Given the description of an element on the screen output the (x, y) to click on. 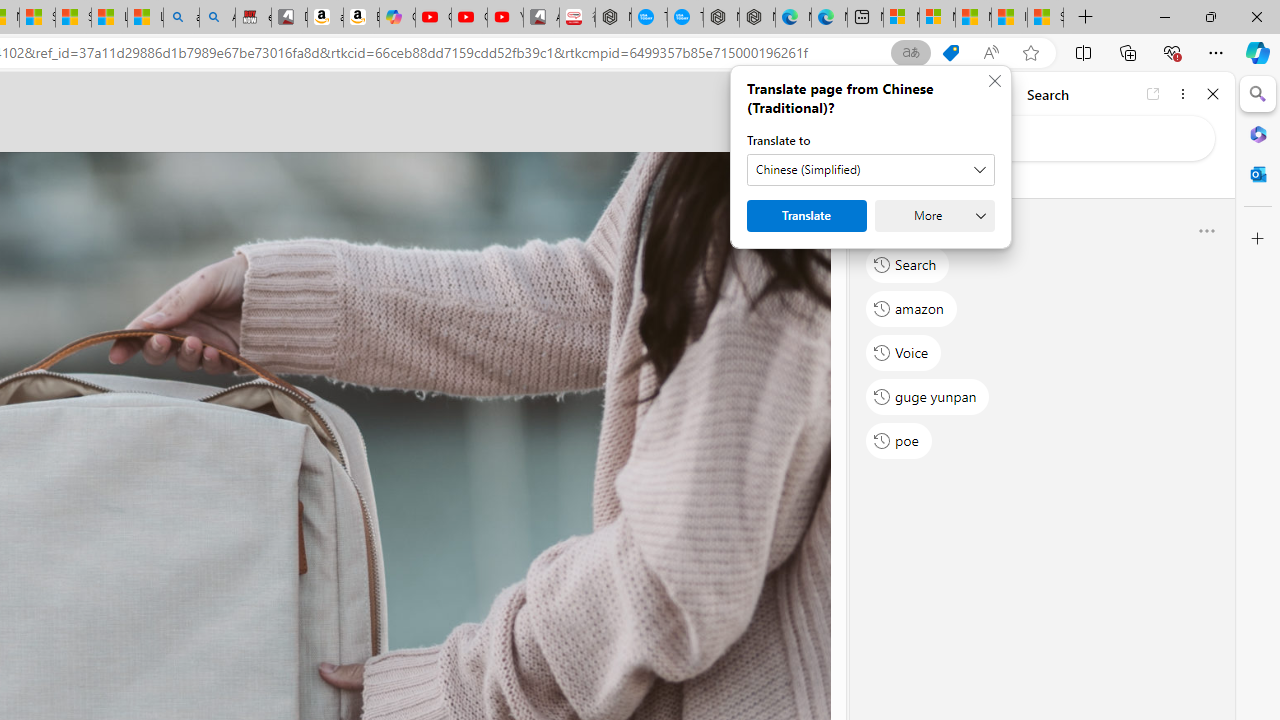
All Cubot phones (541, 17)
I Gained 20 Pounds of Muscle in 30 Days! | Watch (1009, 17)
amazon (911, 308)
Nordace - Nordace has arrived Hong Kong (756, 17)
Outlook (1258, 174)
Customize (1258, 239)
